Given the description of an element on the screen output the (x, y) to click on. 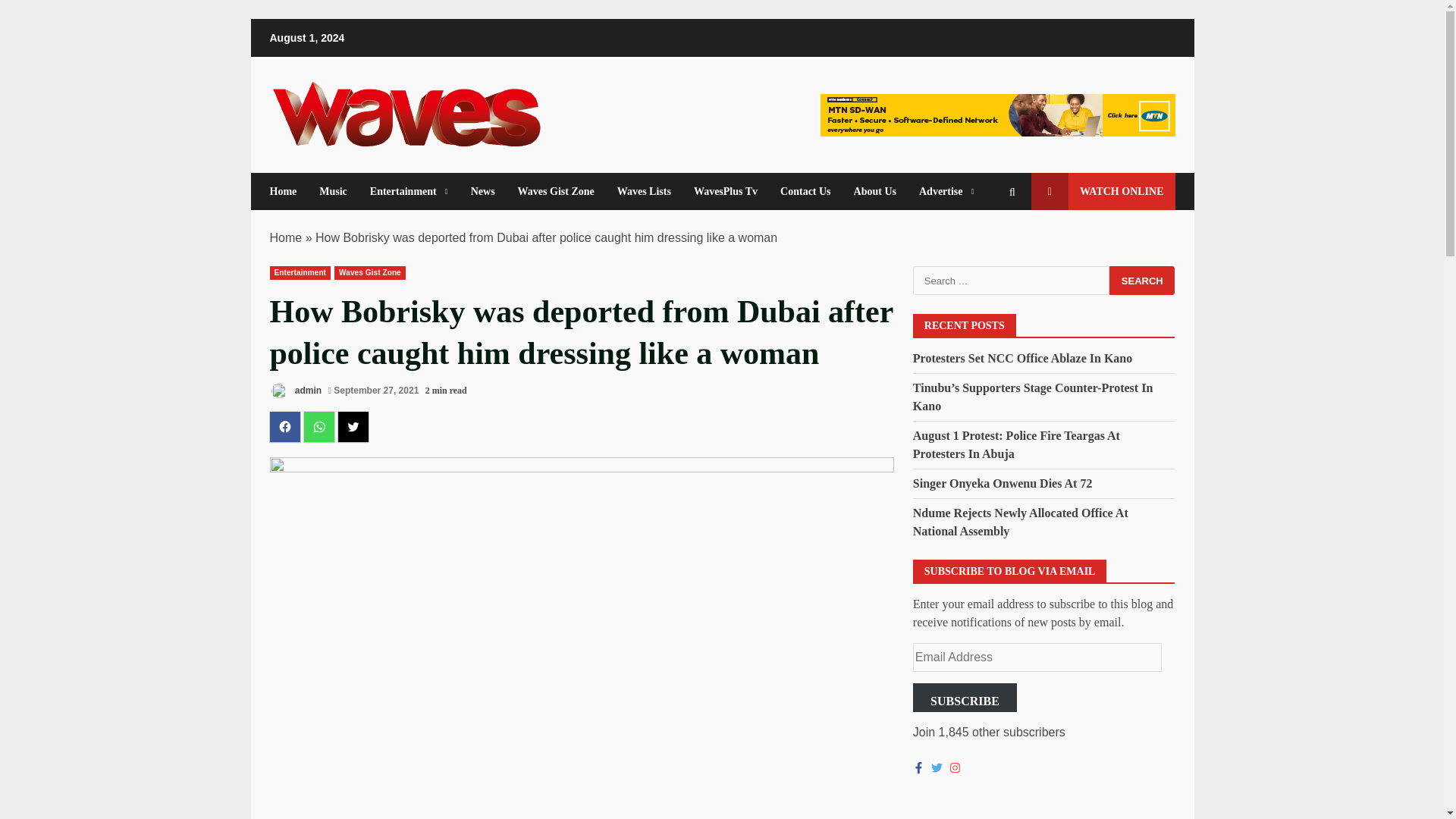
Search (1141, 280)
Waves Lists (643, 190)
Waves Gist Zone (555, 190)
admin (295, 390)
News (483, 190)
Search (1141, 280)
Music (332, 190)
Home (285, 237)
Waves Gist Zone (370, 273)
Advertise (940, 190)
Search (984, 243)
Click to share on WhatsApp (317, 426)
Home (288, 190)
Entertainment (409, 190)
Entertainment (300, 273)
